Given the description of an element on the screen output the (x, y) to click on. 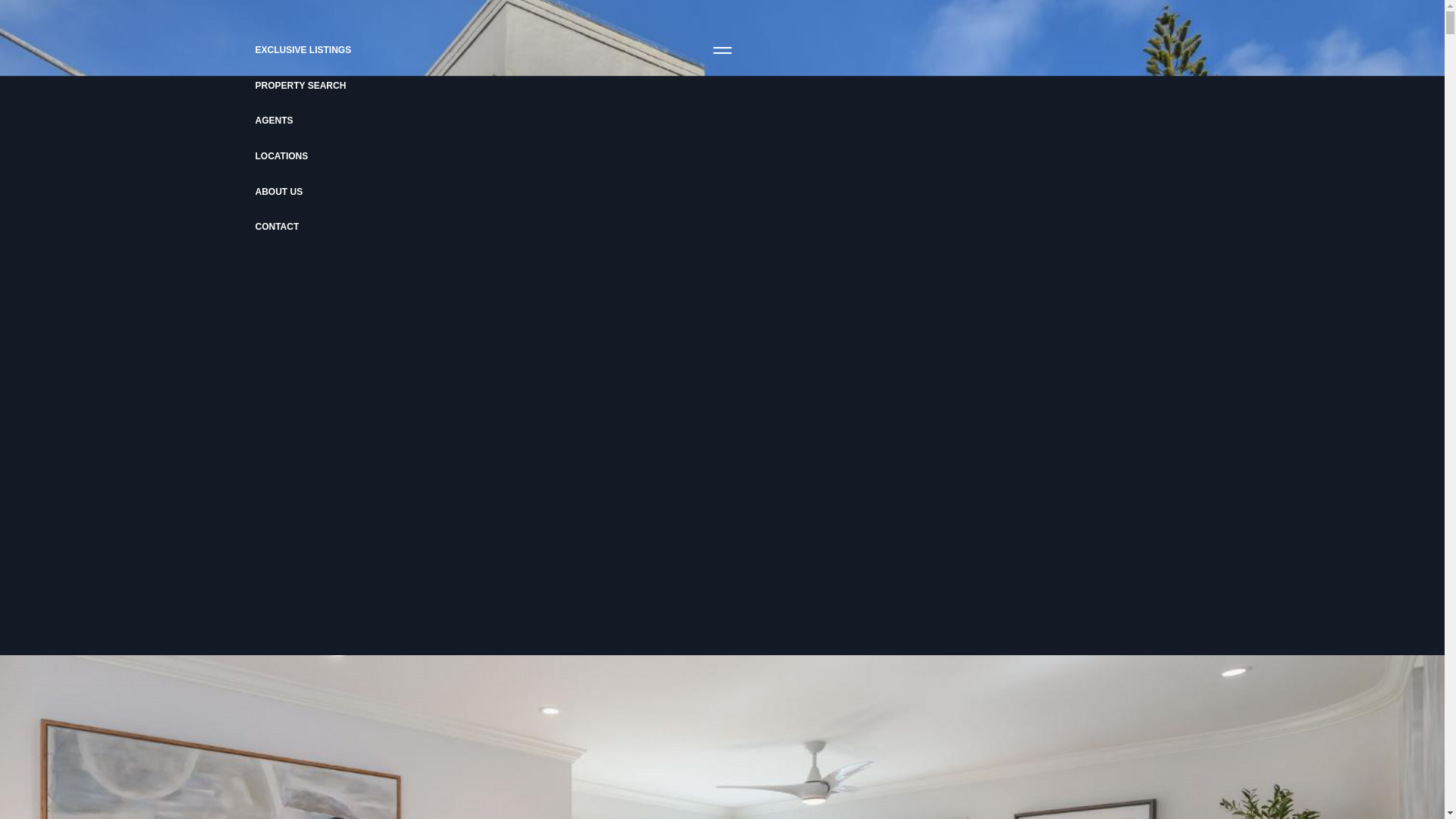
EXCLUSIVE LISTINGS (208, 49)
CONTACT (261, 225)
Side Menu (721, 49)
